Given the description of an element on the screen output the (x, y) to click on. 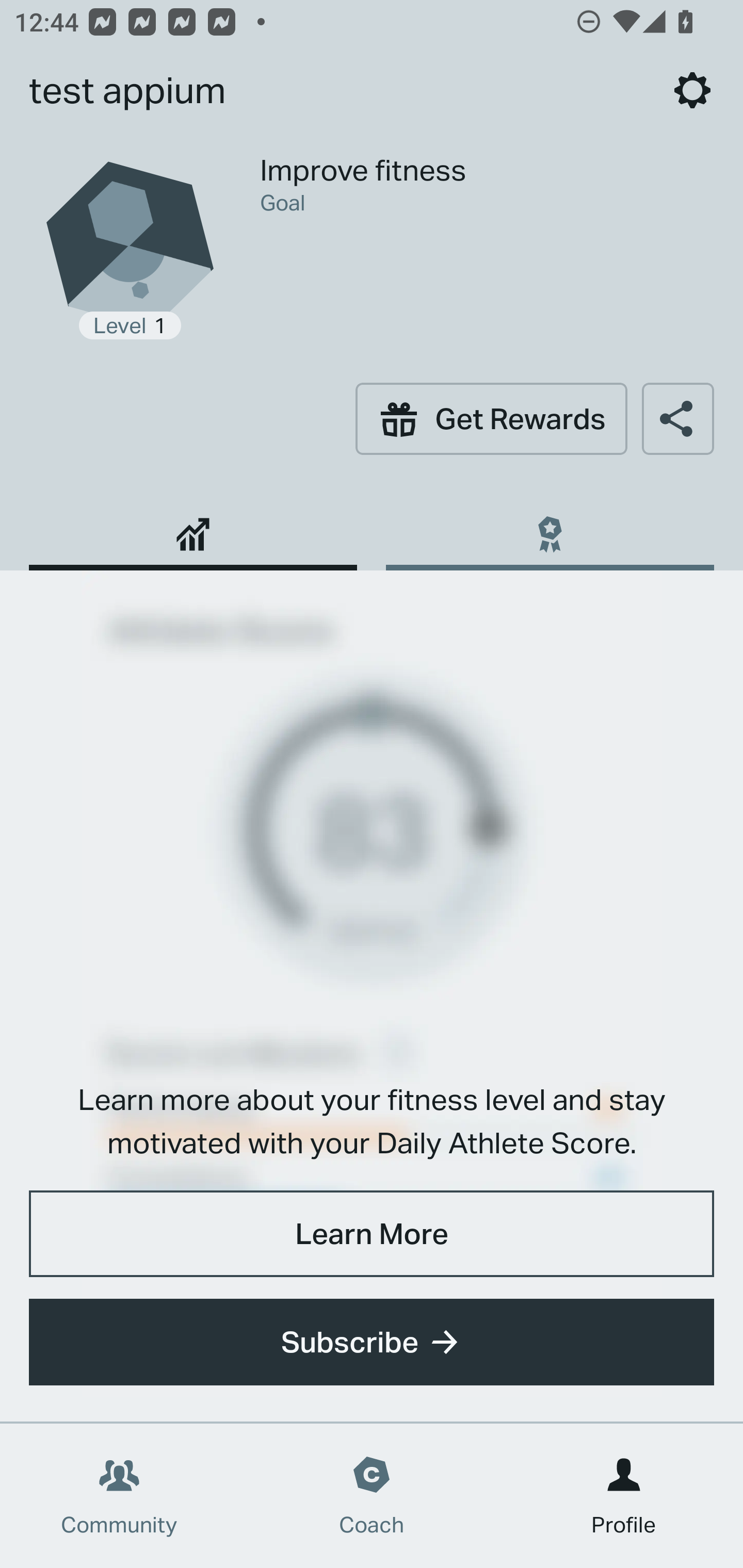
Settings (692, 90)
Get Rewards (491, 418)
Daily Athlete Score (192, 527)
Hall of Fame (549, 527)
Learn More (371, 1233)
Subscribe (371, 1342)
Community (119, 1495)
Coach (371, 1495)
